Given the description of an element on the screen output the (x, y) to click on. 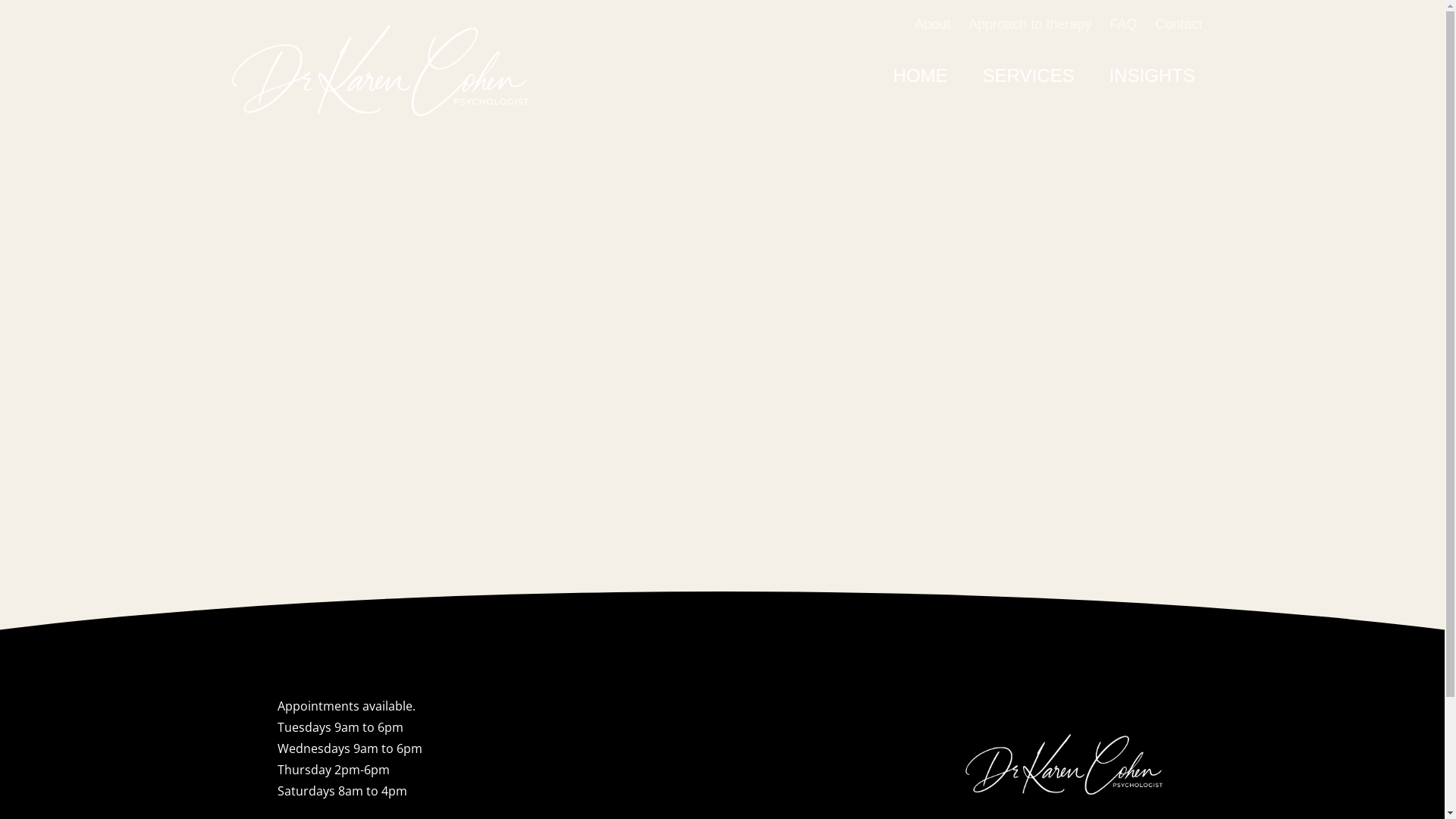
Contact Element type: text (1177, 23)
FAQ Element type: text (1122, 23)
Approach to therapy Element type: text (1029, 23)
SERVICES Element type: text (1028, 75)
HOME Element type: text (920, 75)
About Element type: text (932, 23)
INSIGHTS Element type: text (1152, 75)
